Given the description of an element on the screen output the (x, y) to click on. 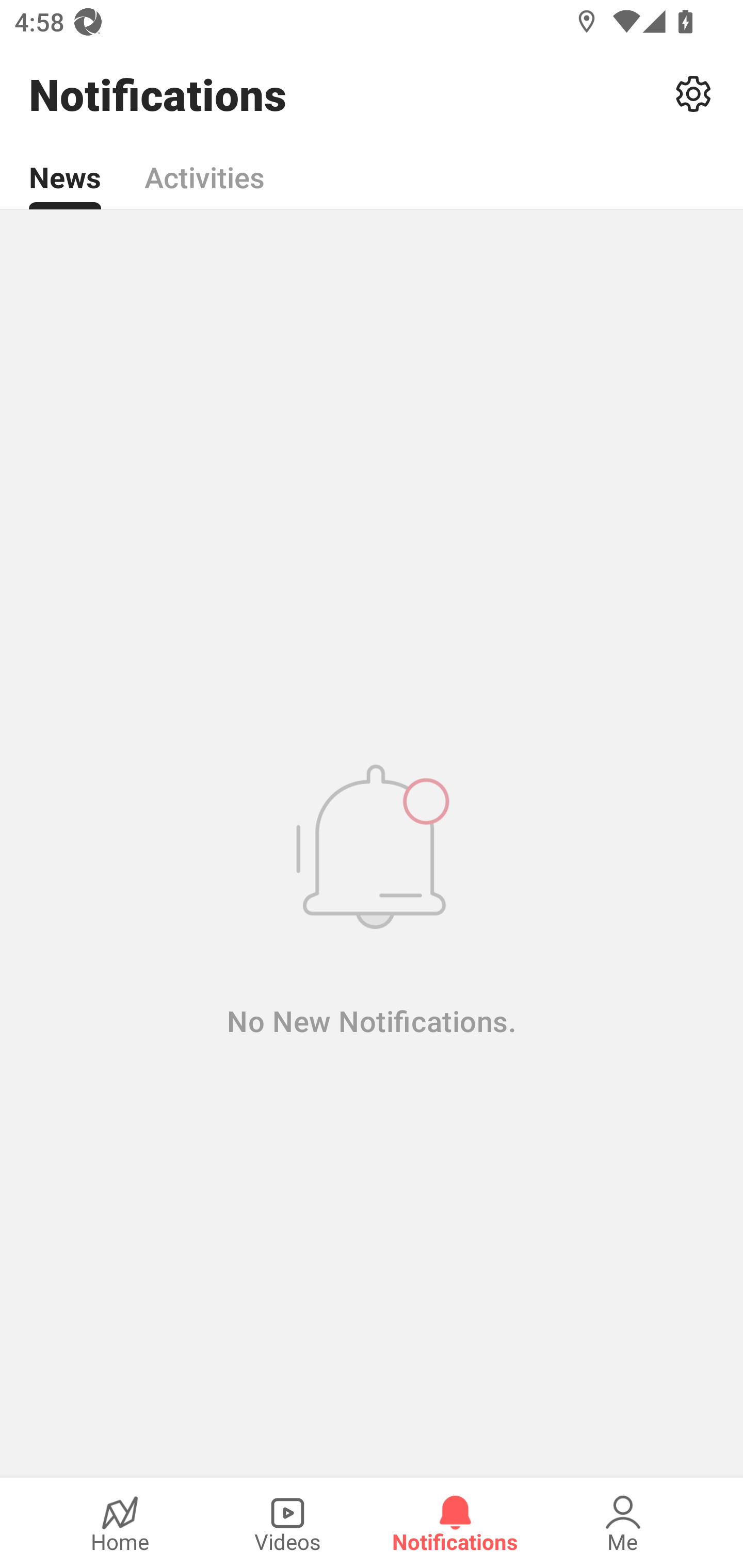
Activities (204, 166)
Home (119, 1522)
Videos (287, 1522)
Me (622, 1522)
